Given the description of an element on the screen output the (x, y) to click on. 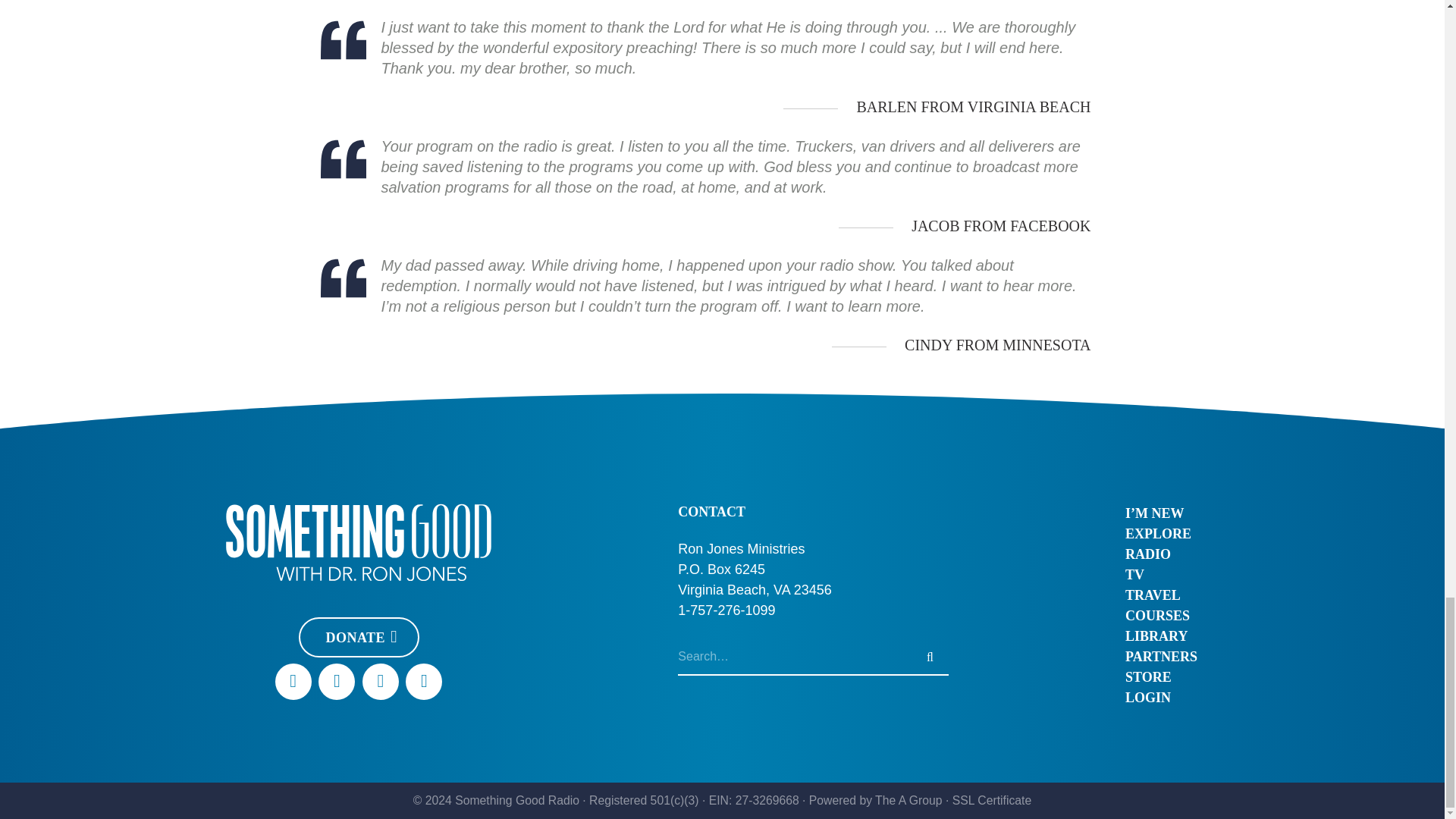
LOGIN (1160, 697)
RSS (424, 681)
TV (1160, 575)
EXPLORE (1160, 534)
Facebook (293, 681)
Powered by The A Group (875, 799)
DONATE (358, 637)
PARTNERS (1160, 657)
SEARCH (930, 657)
RADIO (1160, 553)
TRAVEL (1160, 594)
COURSES (1160, 616)
YouTube (336, 681)
STORE (1160, 676)
Instagram (380, 681)
